Given the description of an element on the screen output the (x, y) to click on. 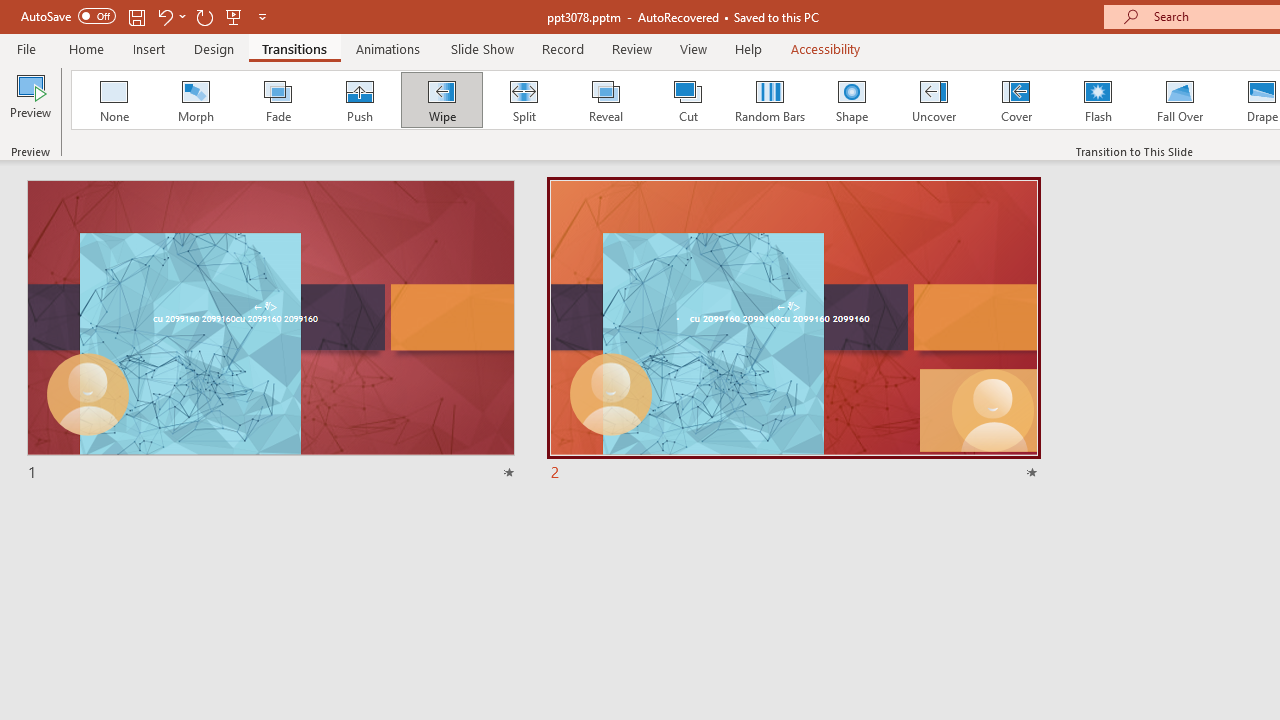
Uncover (934, 100)
Push (359, 100)
Reveal (605, 100)
